Given the description of an element on the screen output the (x, y) to click on. 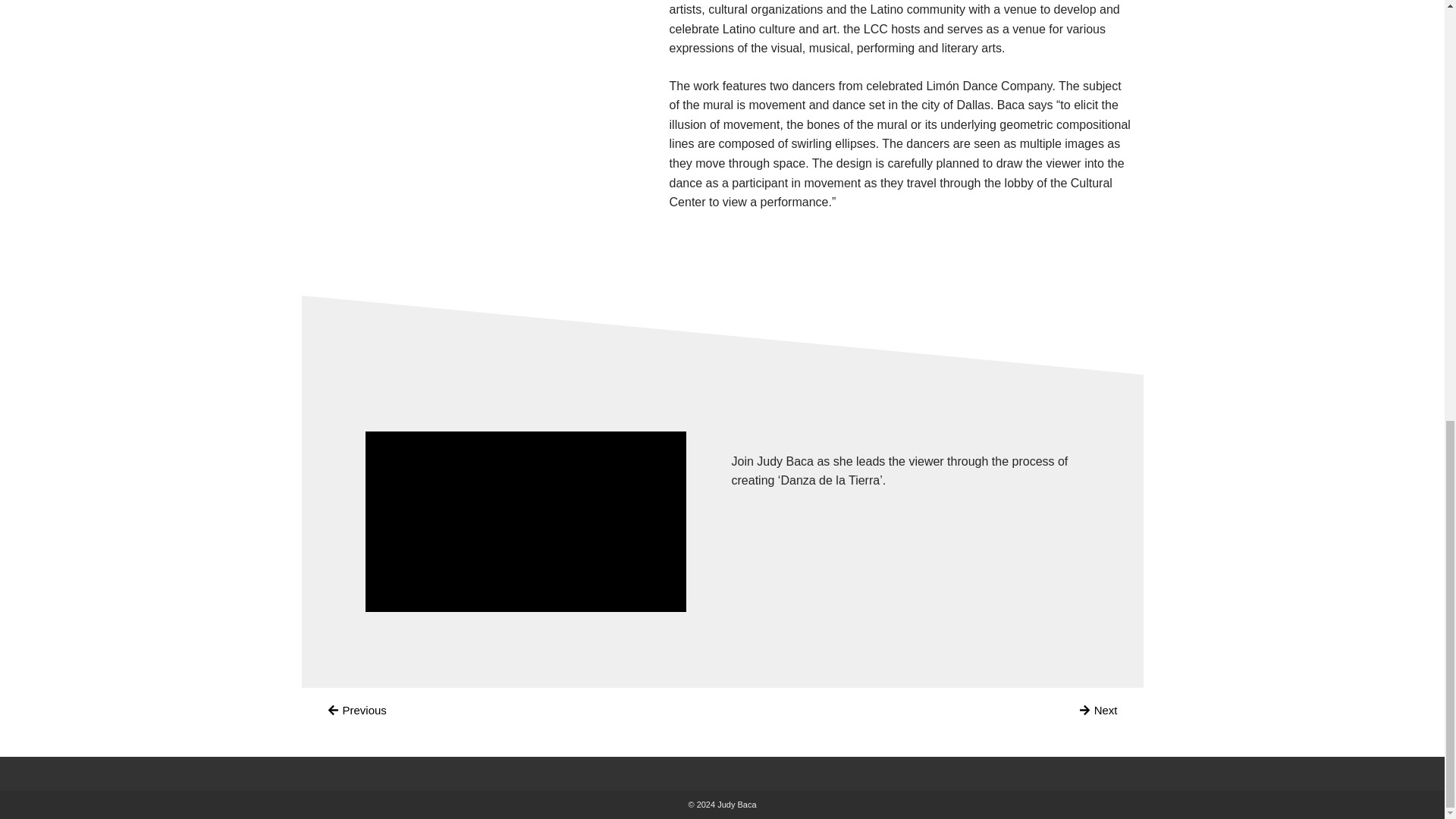
vimeo Video Player (525, 521)
Previous (356, 710)
Next (1098, 710)
